Given the description of an element on the screen output the (x, y) to click on. 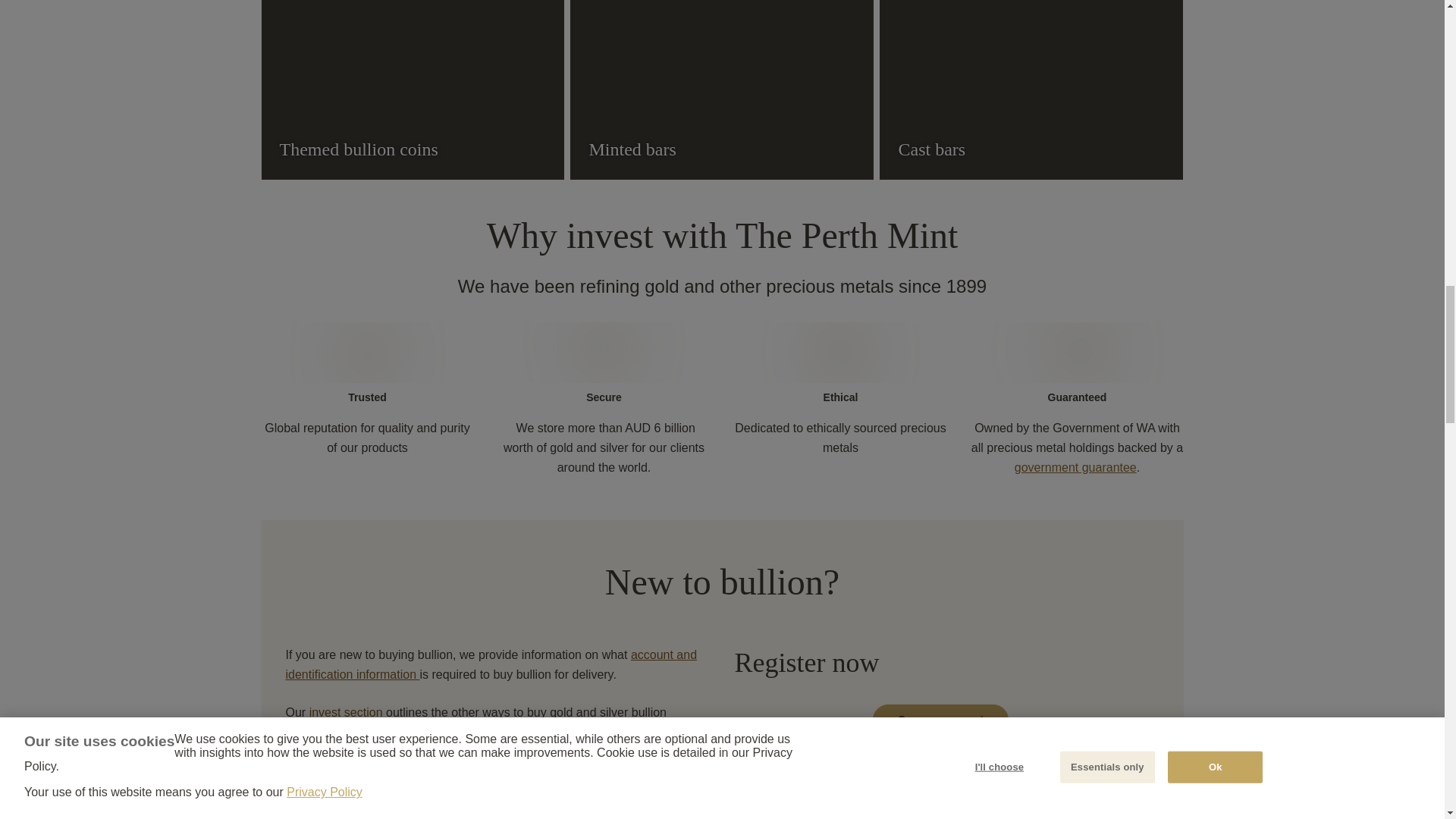
Open an account (940, 719)
